Given the description of an element on the screen output the (x, y) to click on. 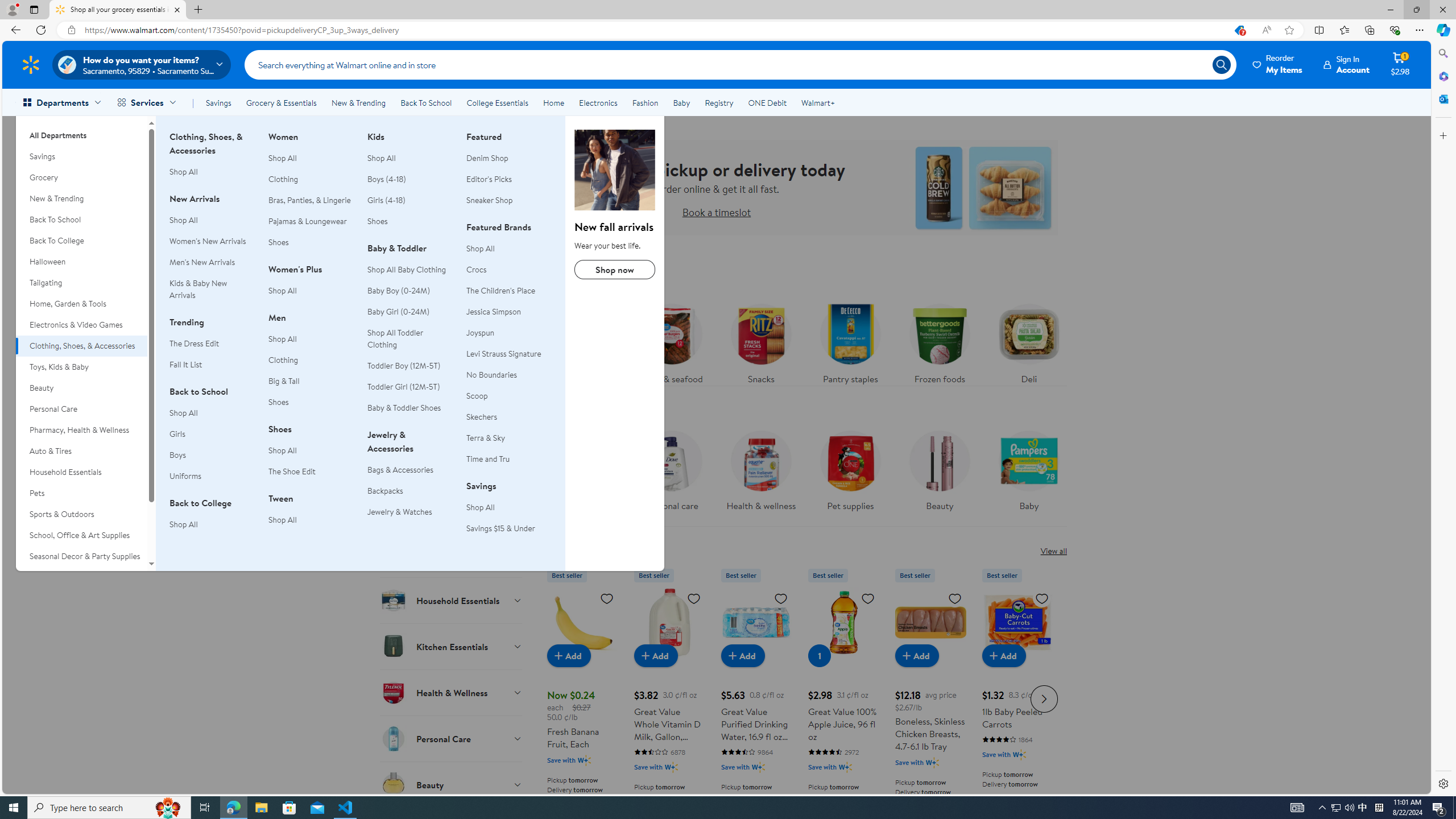
Frozen foods (938, 340)
Uniforms (185, 475)
Boys (177, 454)
Bags & Accessories (399, 469)
Shop All (508, 507)
Pajamas & Loungewear (307, 220)
Girls (176, 433)
Baby Boy (0-24M) (397, 290)
School, Office & Art Supplies (81, 535)
This site has coupons! Shopping in Microsoft Edge, 7 (1239, 29)
